Given the description of an element on the screen output the (x, y) to click on. 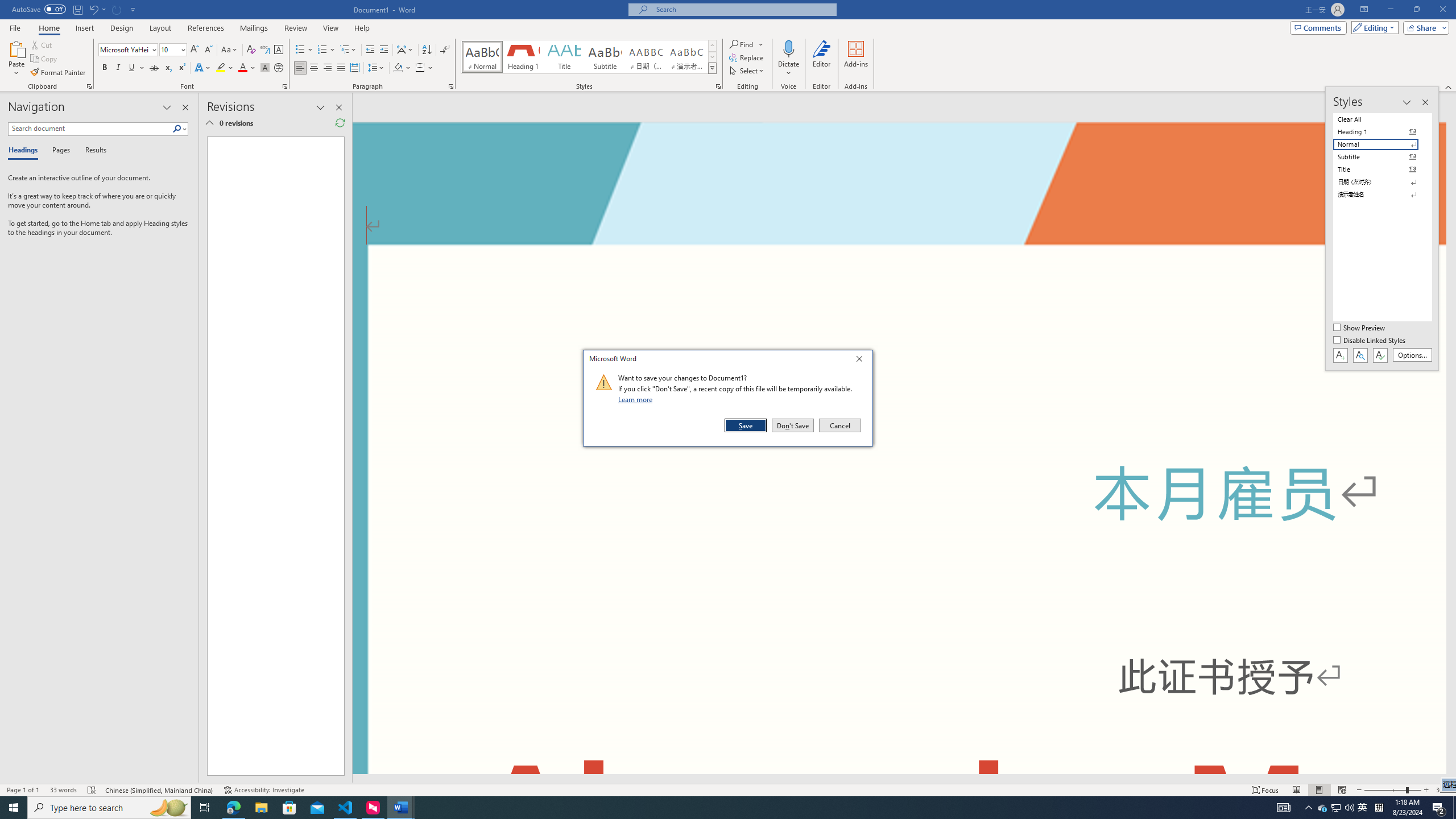
Phonetic Guide... (264, 49)
Shrink Font (208, 49)
Accessibility Checker Accessibility: Investigate (263, 790)
Align Left (300, 67)
Text Effects and Typography (202, 67)
Mailings (253, 28)
Decrease Indent (370, 49)
Microsoft Edge - 1 running window (233, 807)
Find (746, 44)
Zoom In (1426, 790)
Comments (1318, 27)
Refresh Reviewing Pane (339, 122)
